Given the description of an element on the screen output the (x, y) to click on. 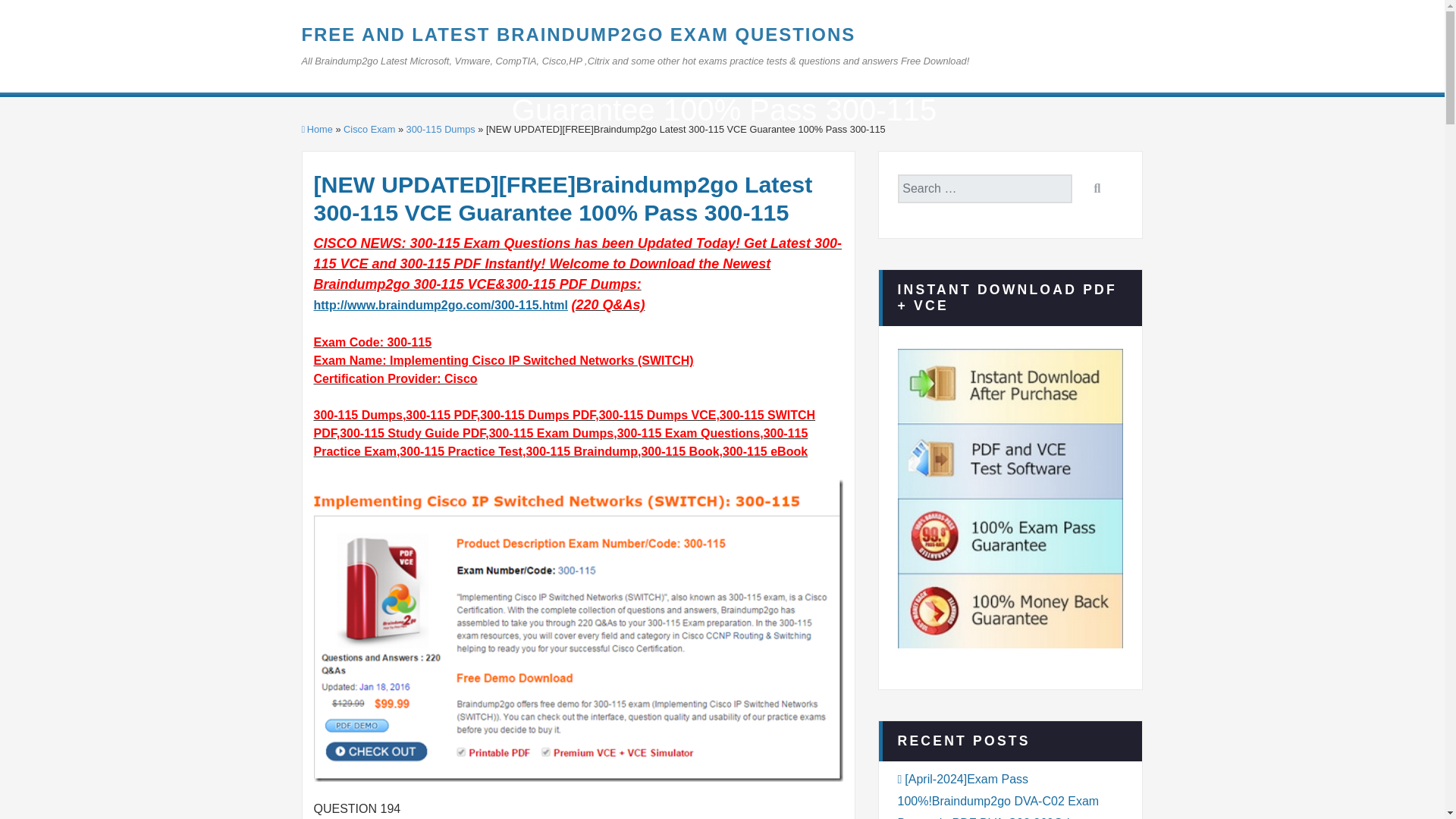
300-115 Dumps (441, 129)
FREE AND LATEST BRAINDUMP2GO EXAM QUESTIONS (578, 34)
Home (317, 129)
Cisco Exam (368, 129)
